Given the description of an element on the screen output the (x, y) to click on. 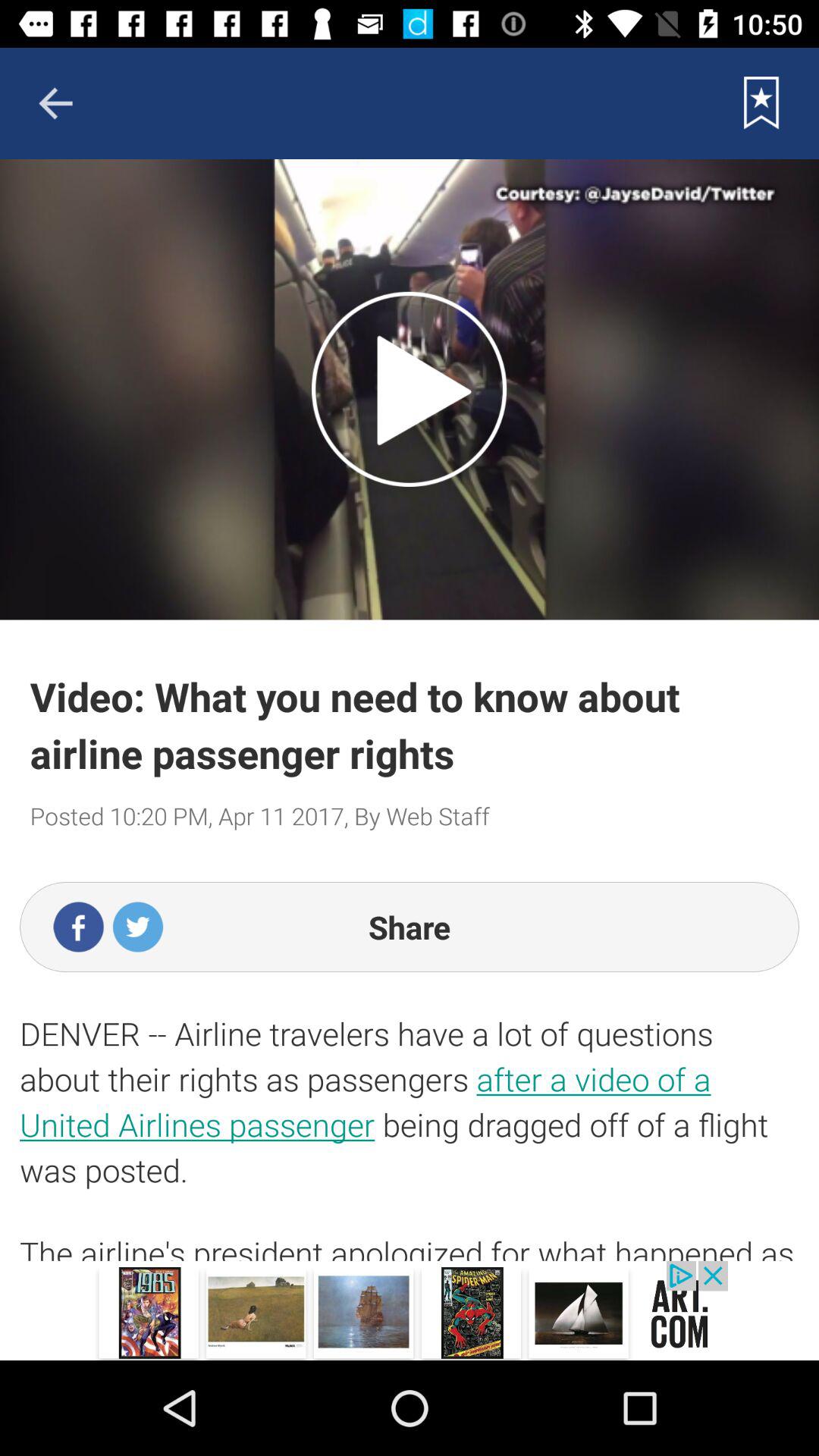
touch to play video (408, 388)
